Given the description of an element on the screen output the (x, y) to click on. 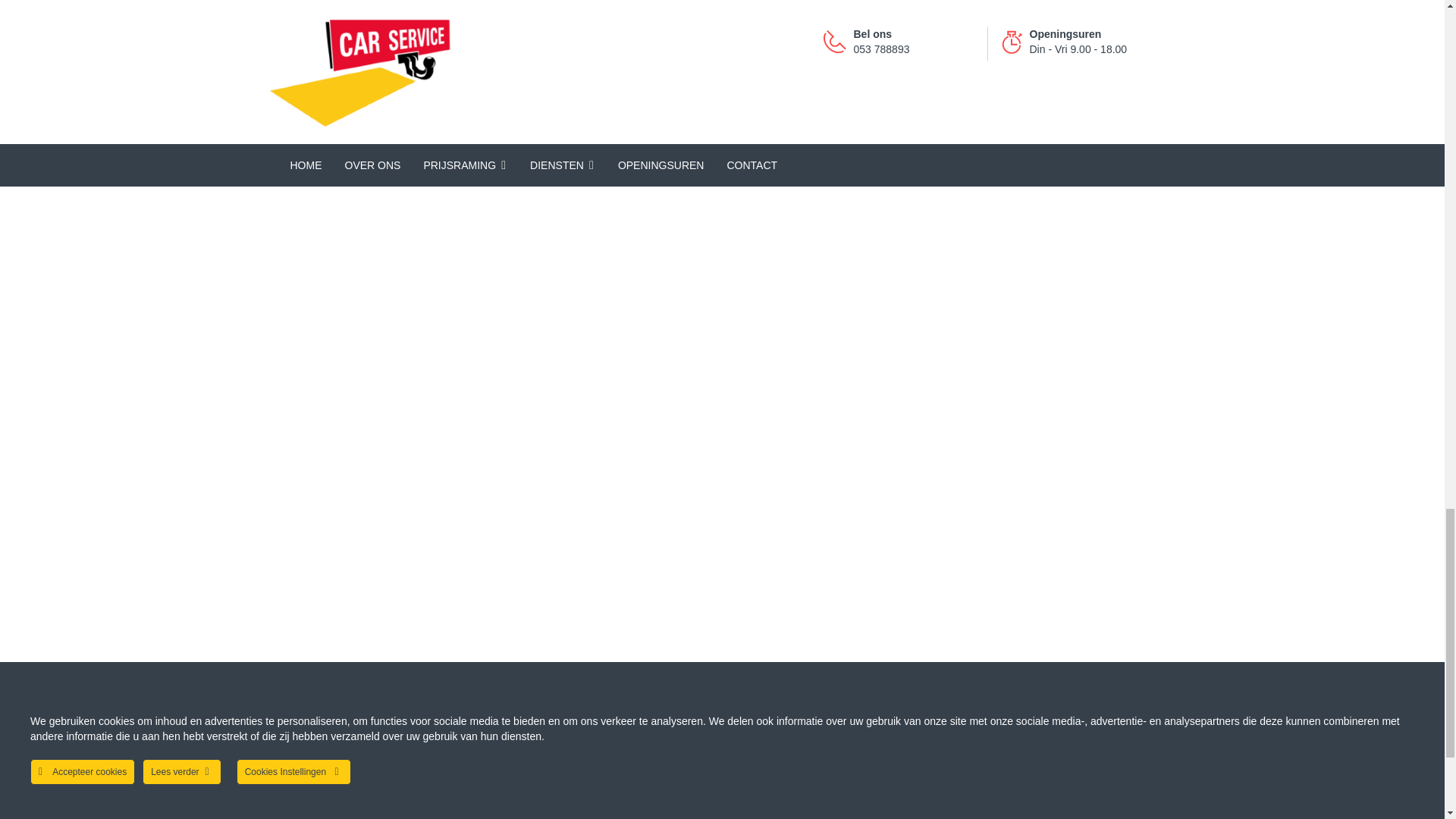
Klein onderhoud (327, 793)
Schokdempers (323, 770)
Batterijen (308, 813)
Uitlaten (304, 745)
